Given the description of an element on the screen output the (x, y) to click on. 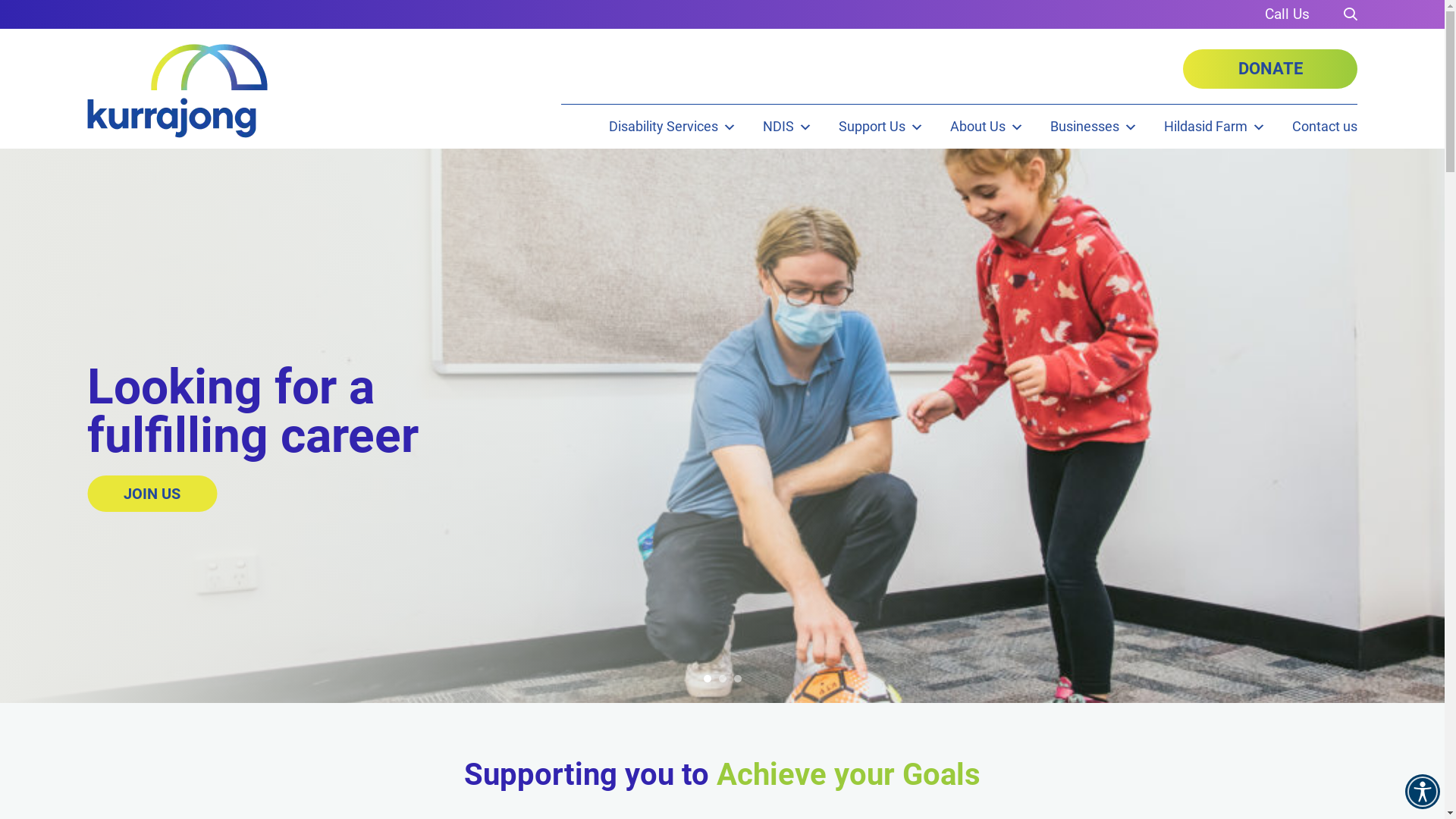
Support Us Element type: text (880, 126)
Contact us Element type: text (1324, 126)
Businesses Element type: text (1093, 126)
1300 764 620 Element type: text (1286, 13)
1 Element type: text (706, 678)
Kurrajong Element type: hover (177, 90)
NDIS Element type: text (787, 126)
Disability Services Element type: text (672, 126)
About Us Element type: text (986, 126)
Hildasid Farm Element type: text (1214, 126)
3 Element type: text (736, 678)
JOIN US Element type: text (151, 493)
2 Element type: text (721, 678)
DONATE Element type: text (1270, 68)
